Given the description of an element on the screen output the (x, y) to click on. 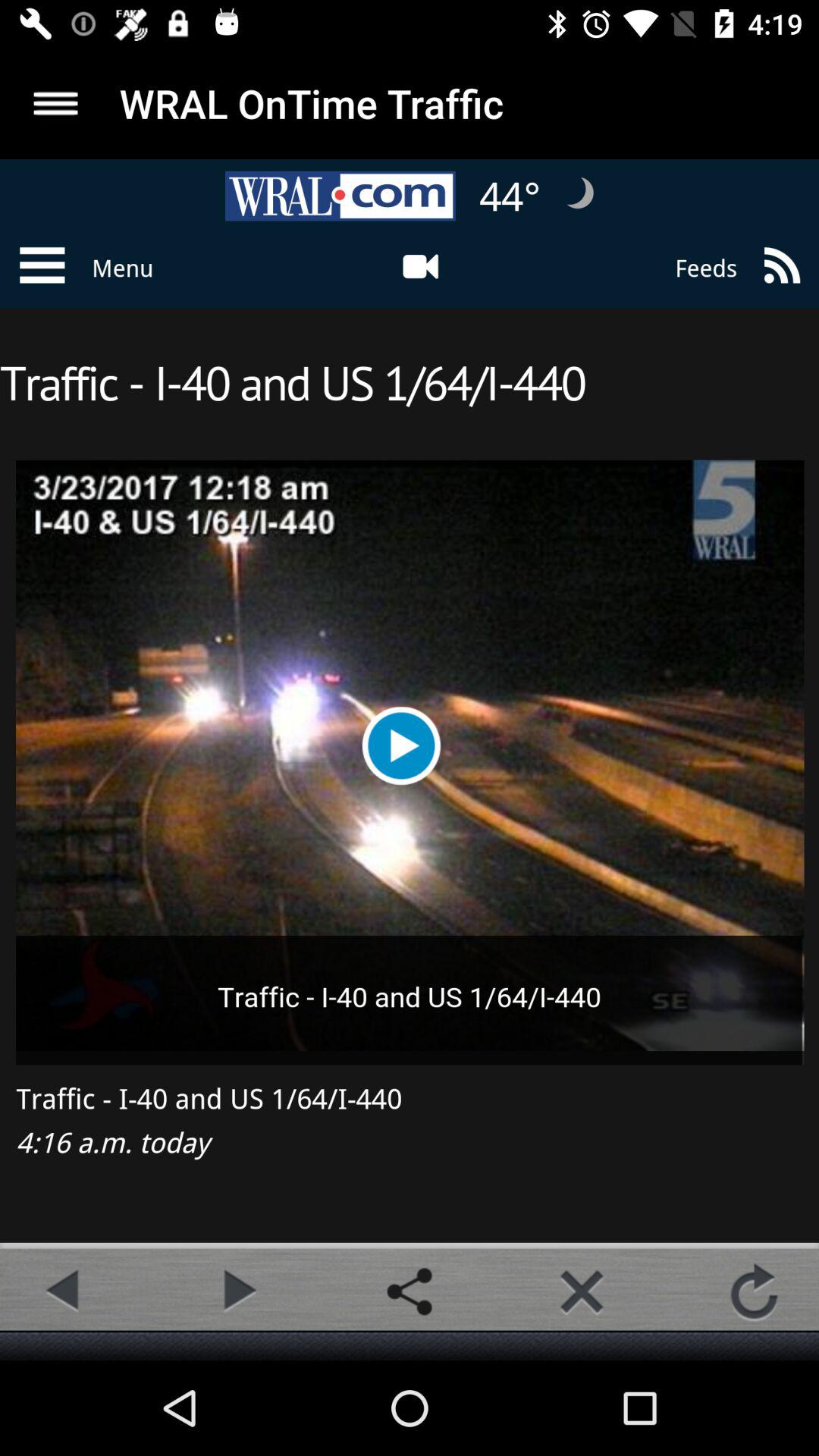
forward (237, 1291)
